Given the description of an element on the screen output the (x, y) to click on. 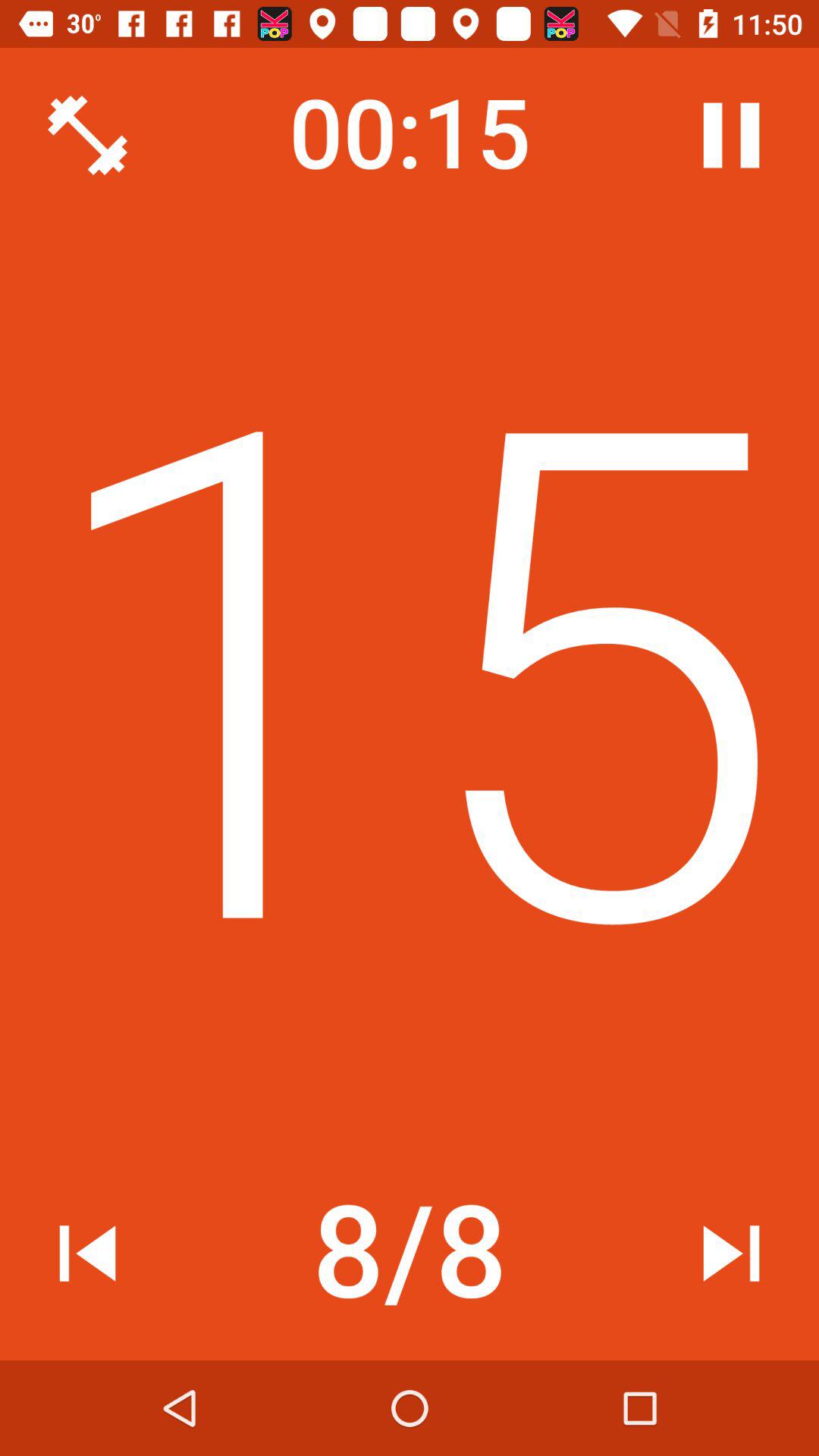
open item next to 8/8 (87, 1253)
